Given the description of an element on the screen output the (x, y) to click on. 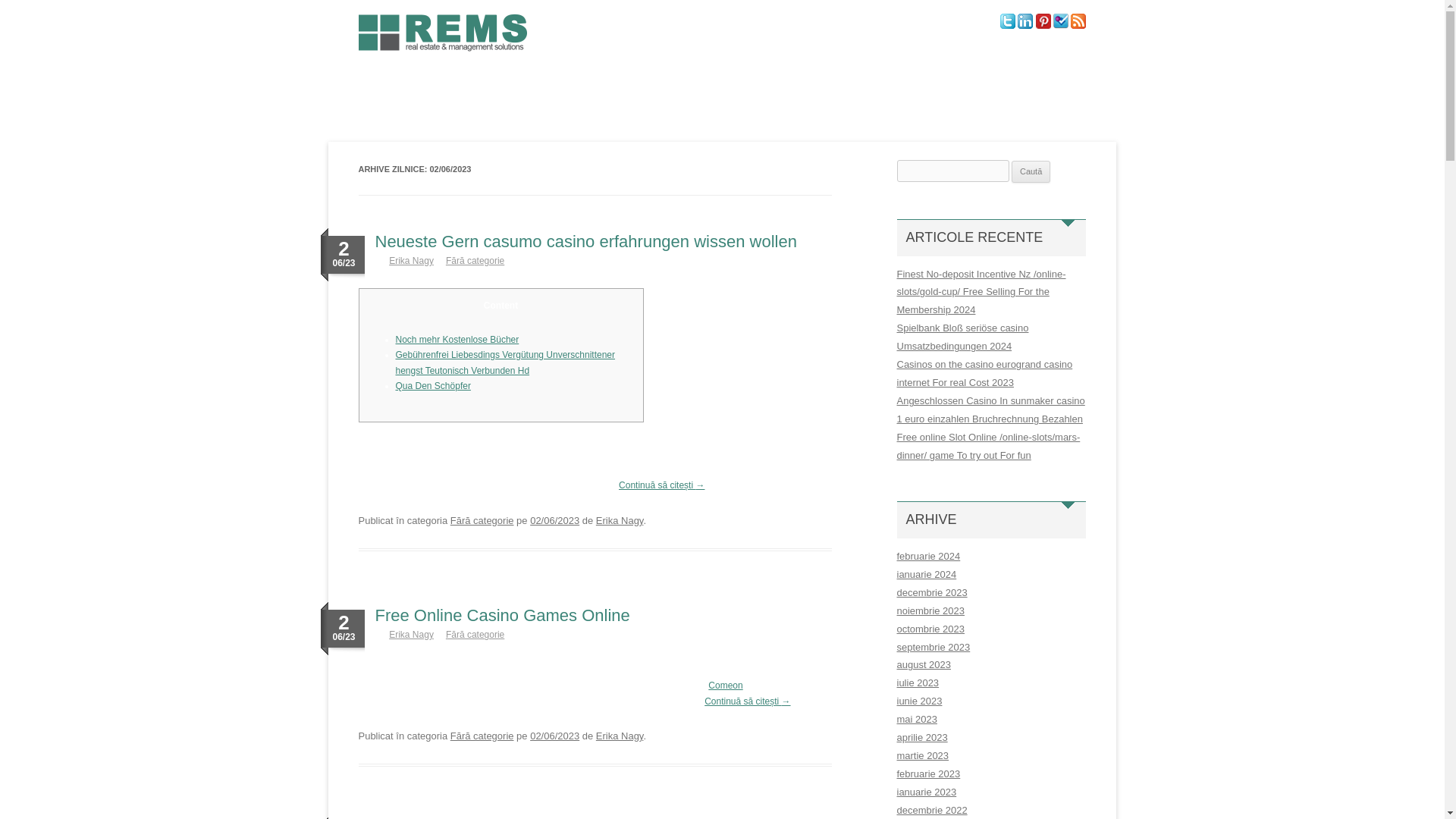
15:29 (554, 736)
Comeon (724, 685)
RSS Feed (1078, 25)
Urmariti REMS Imobiliare pe Foursquare (1060, 25)
CINE SUNTEM (389, 90)
PRIMA CASA (880, 90)
Toate articolele lui Erika Nagy (619, 736)
SERVICII (472, 90)
OFERTE REMS IMOBILIARE (417, 123)
Erika Nagy (619, 736)
Erika Nagy (410, 634)
15:43 (554, 520)
Oferte REMS Imobiliare (417, 123)
STIRI IMOBILIARE (564, 90)
Urmariti REMS Imobiliare pe Linkedin (1024, 25)
